Given the description of an element on the screen output the (x, y) to click on. 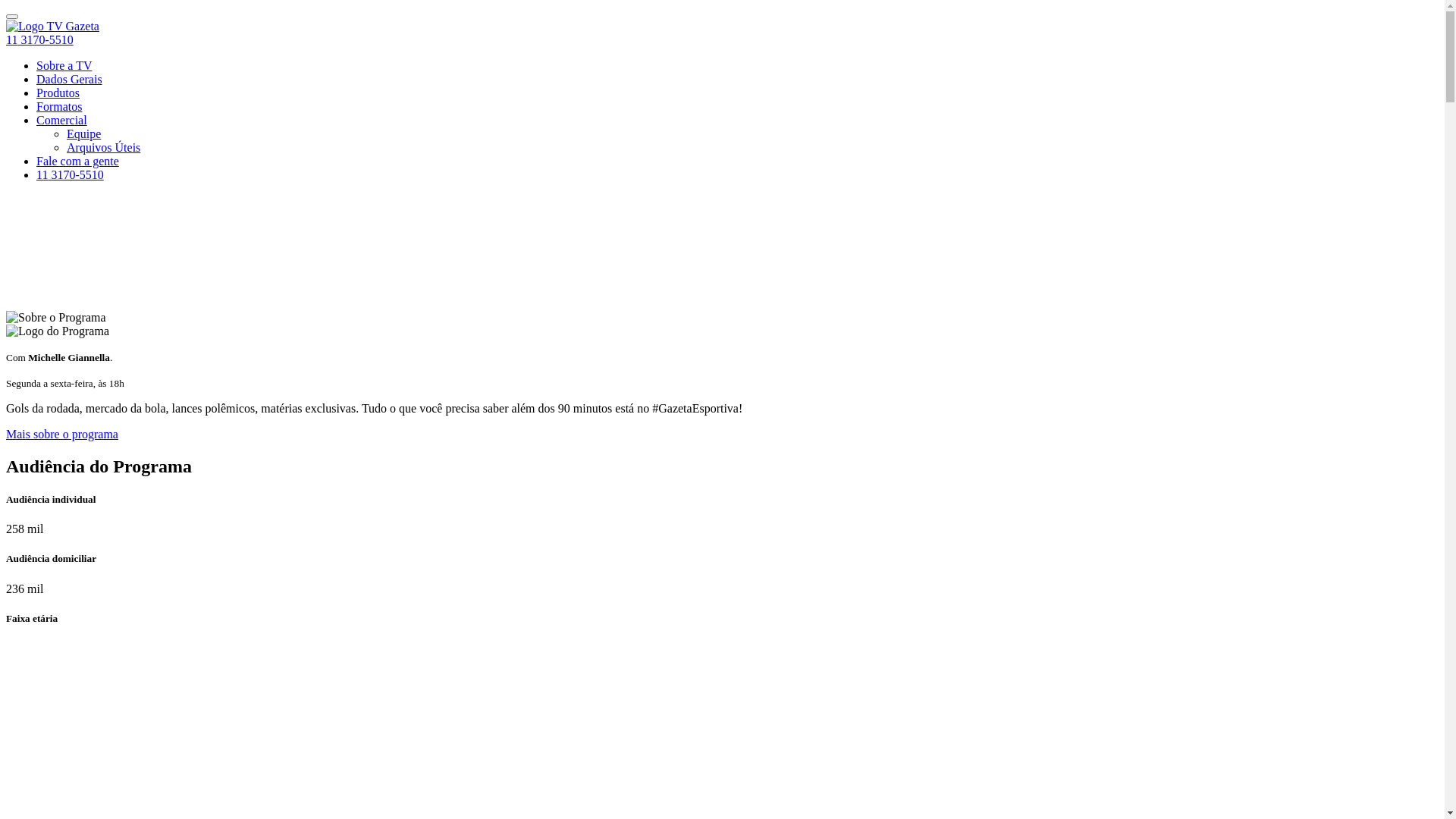
Logo do Programa Element type: hover (57, 331)
Logo TV Gazeta Element type: hover (52, 26)
Dados Gerais Element type: text (69, 78)
Comercial Element type: text (61, 119)
Produtos Element type: text (57, 92)
Equipe Element type: text (83, 133)
Fale com a gente Element type: text (77, 160)
Logo TV Gazeta Element type: hover (52, 25)
Formatos Element type: text (58, 106)
11 3170-5510 Element type: text (39, 39)
11 3170-5510 Element type: text (69, 174)
Mais sobre o programa Element type: text (62, 433)
Sobre o Programa Element type: hover (56, 317)
Sobre a TV Element type: text (63, 65)
